Given the description of an element on the screen output the (x, y) to click on. 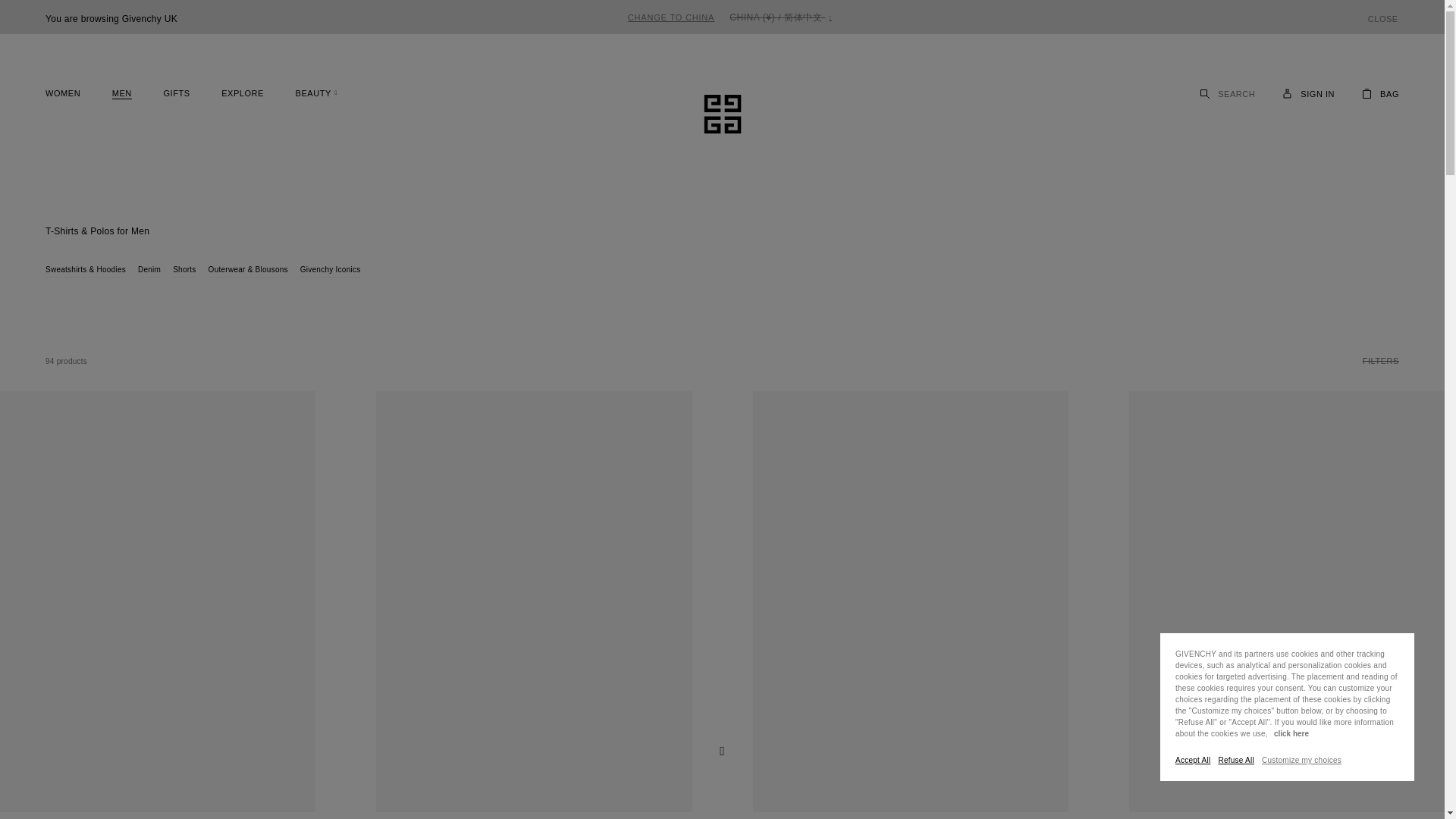
Denim (149, 271)
WOMEN (66, 93)
SKIP TO CONTENT (55, 20)
Search by keyword, style etc (1236, 93)
CHANGE TO CHINA (670, 17)
Givenchy Iconics (330, 271)
Shorts (184, 271)
